Given the description of an element on the screen output the (x, y) to click on. 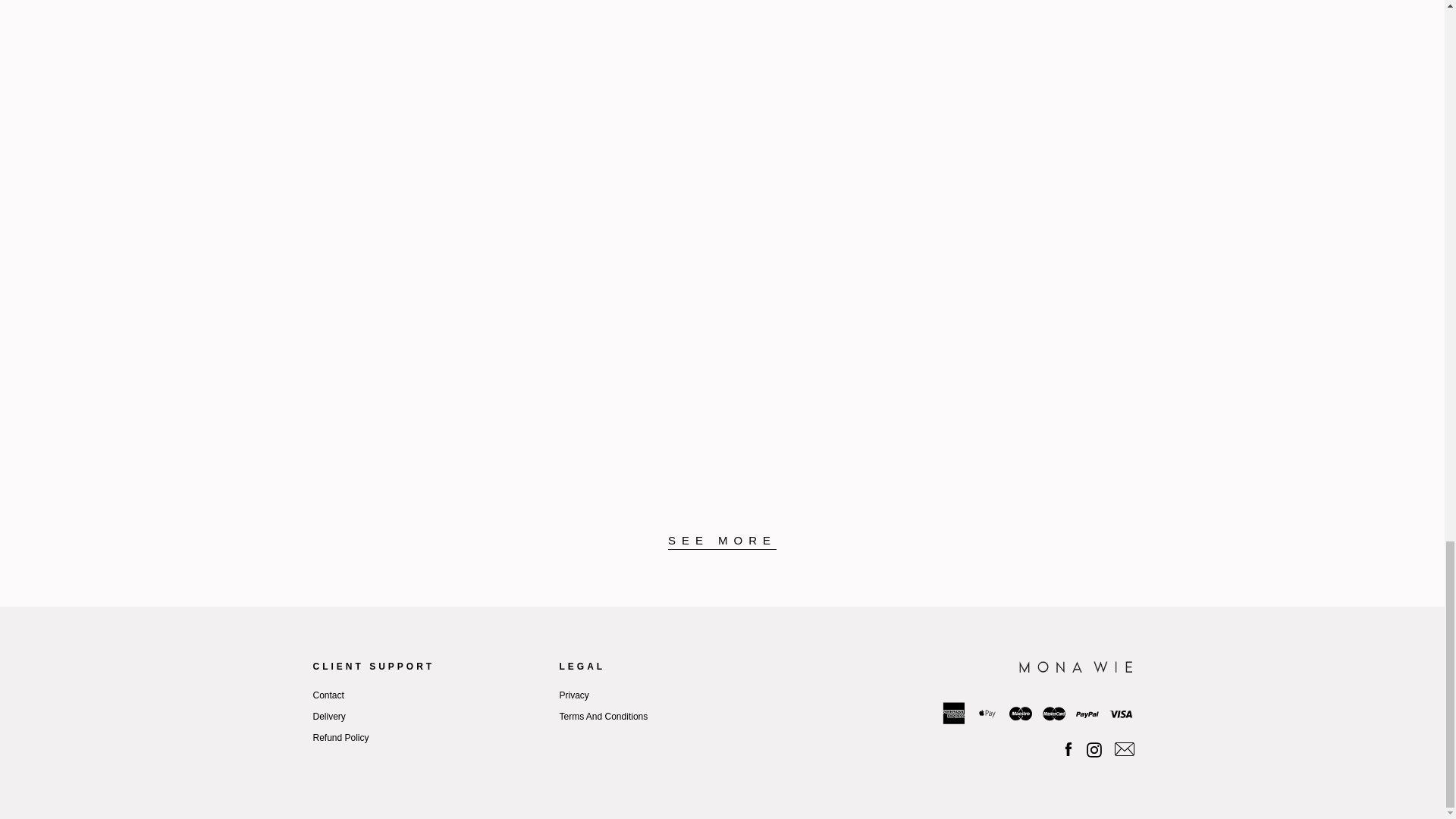
Contact (328, 694)
Refund Policy (340, 737)
Delivery (329, 716)
SEE MORE (722, 540)
